Given the description of an element on the screen output the (x, y) to click on. 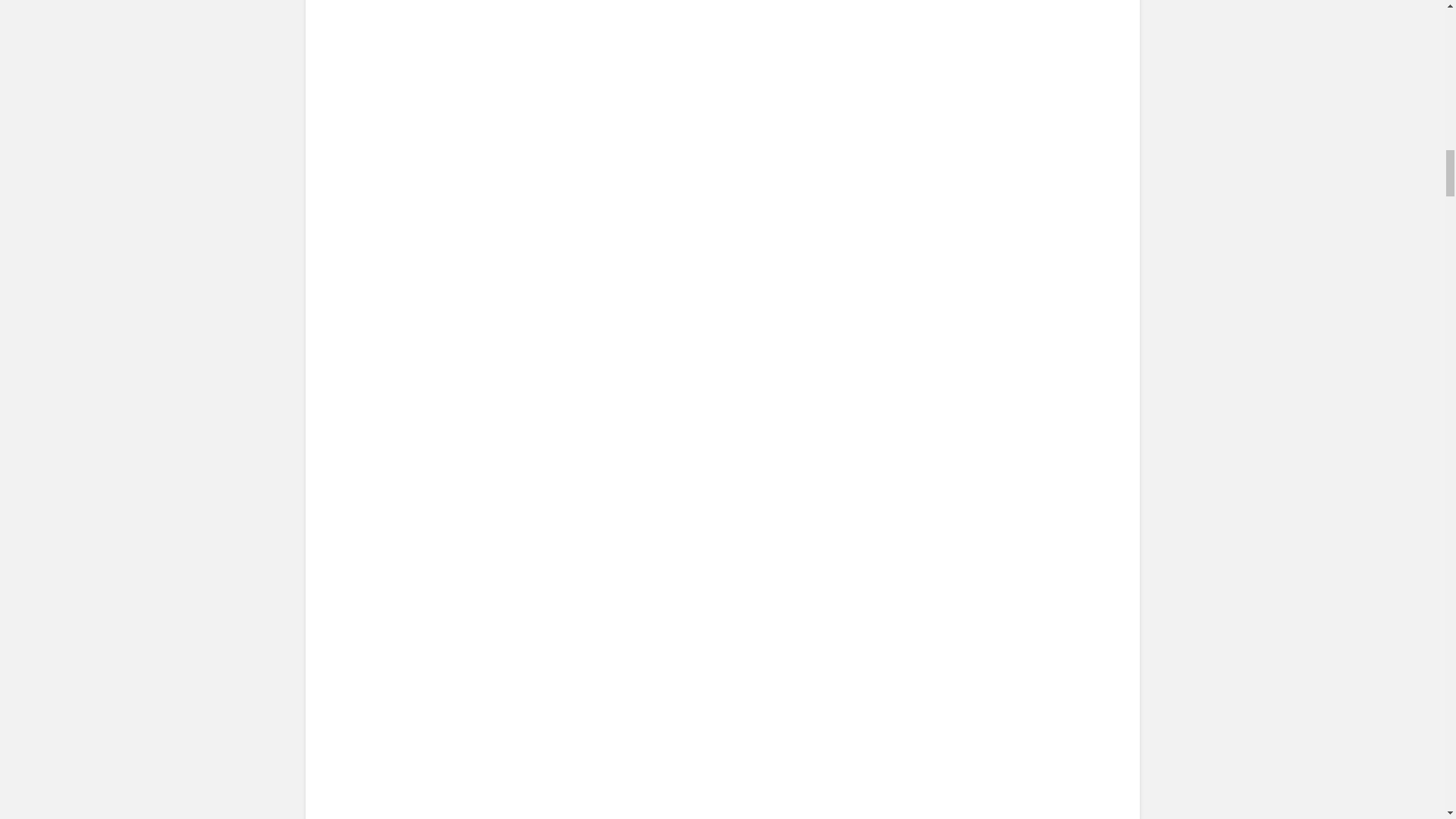
5. Planning (465, 519)
